Given the description of an element on the screen output the (x, y) to click on. 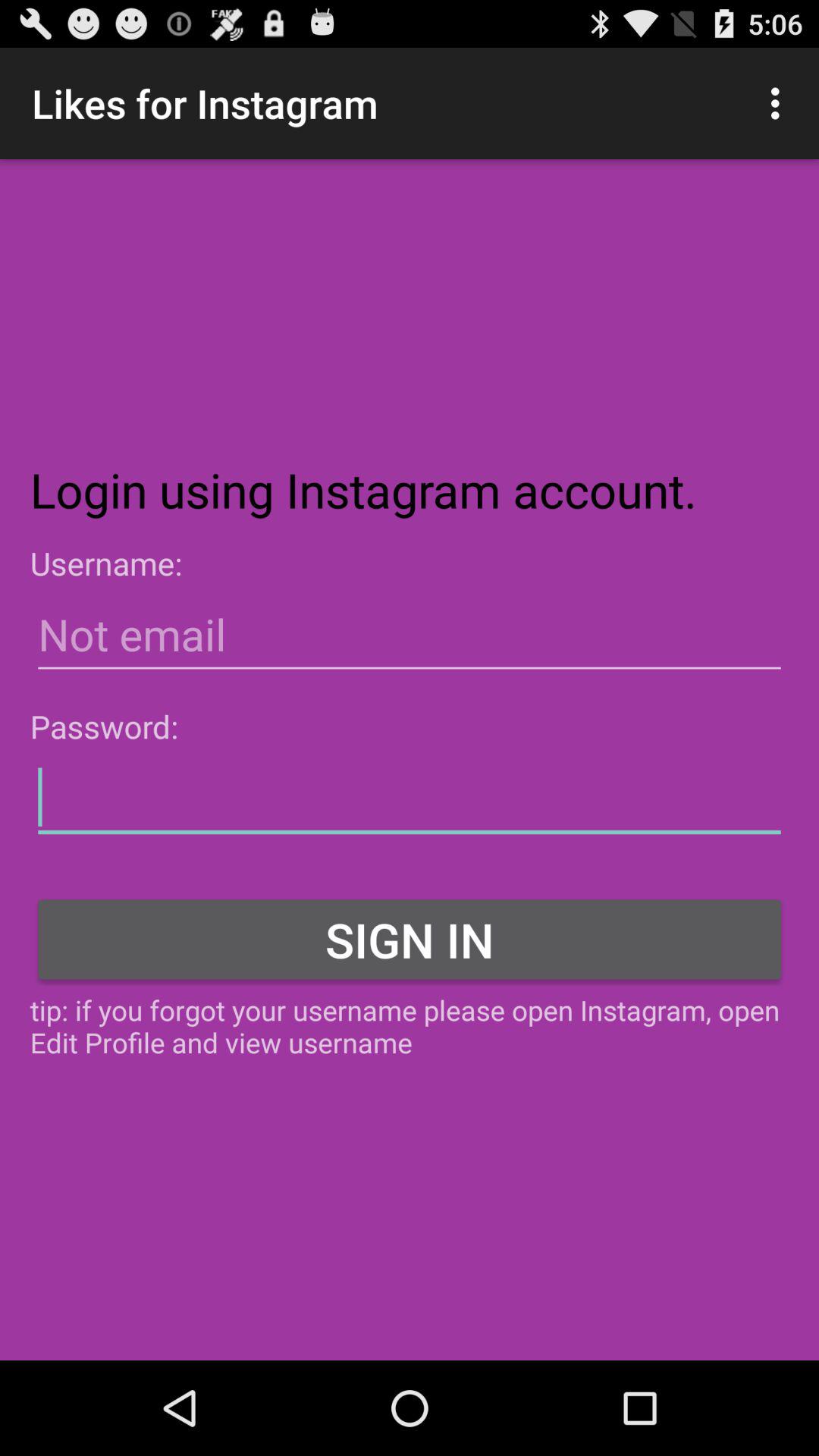
turn off item next to likes for instagram item (779, 103)
